Given the description of an element on the screen output the (x, y) to click on. 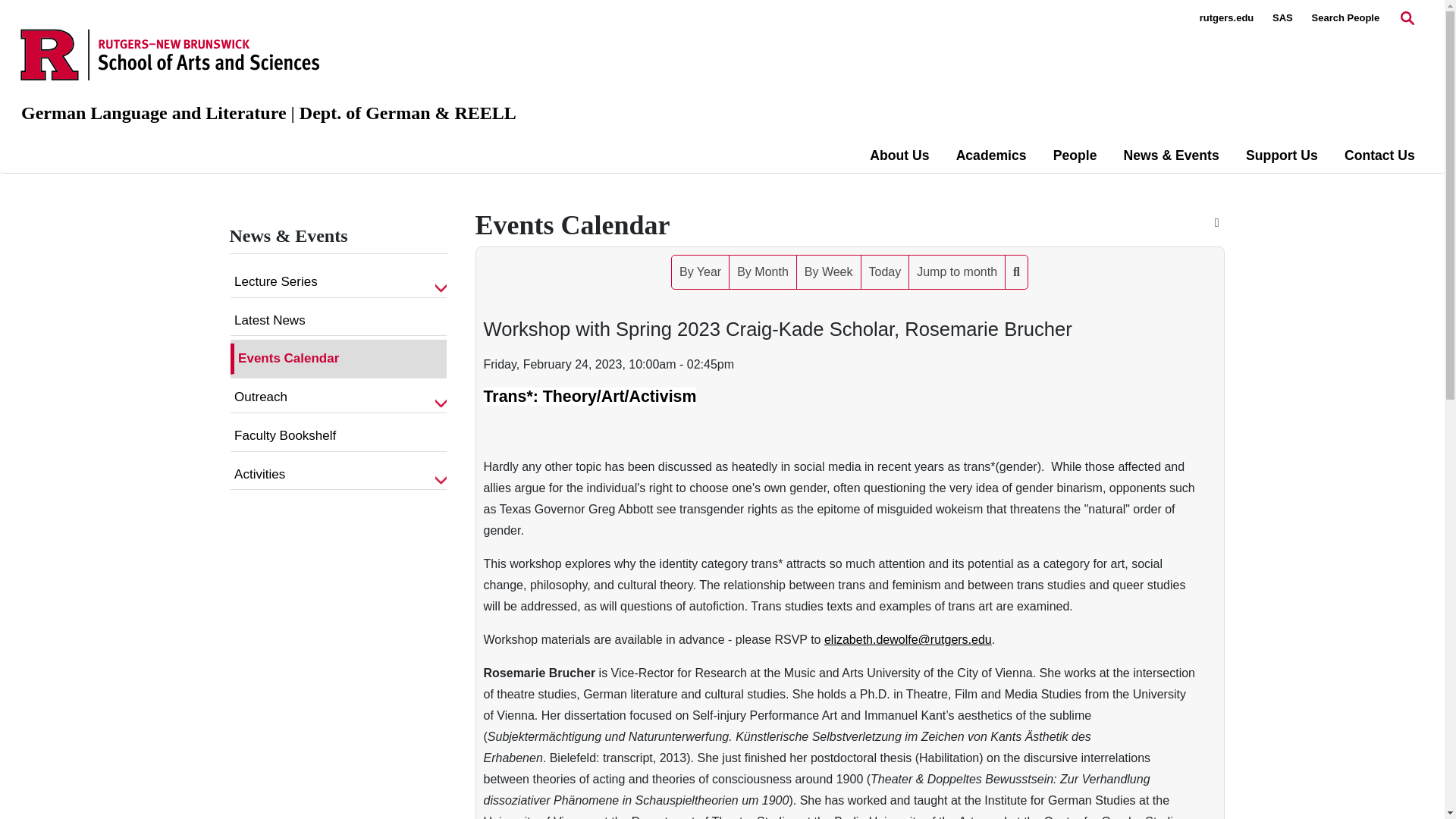
Academics (991, 155)
By Week (828, 272)
Contact Us (1379, 155)
Today (884, 272)
People (1074, 155)
Jump to month (956, 272)
Support Us (1281, 155)
By Year (700, 272)
rutgers.edu (1226, 17)
By Month (762, 272)
